Given the description of an element on the screen output the (x, y) to click on. 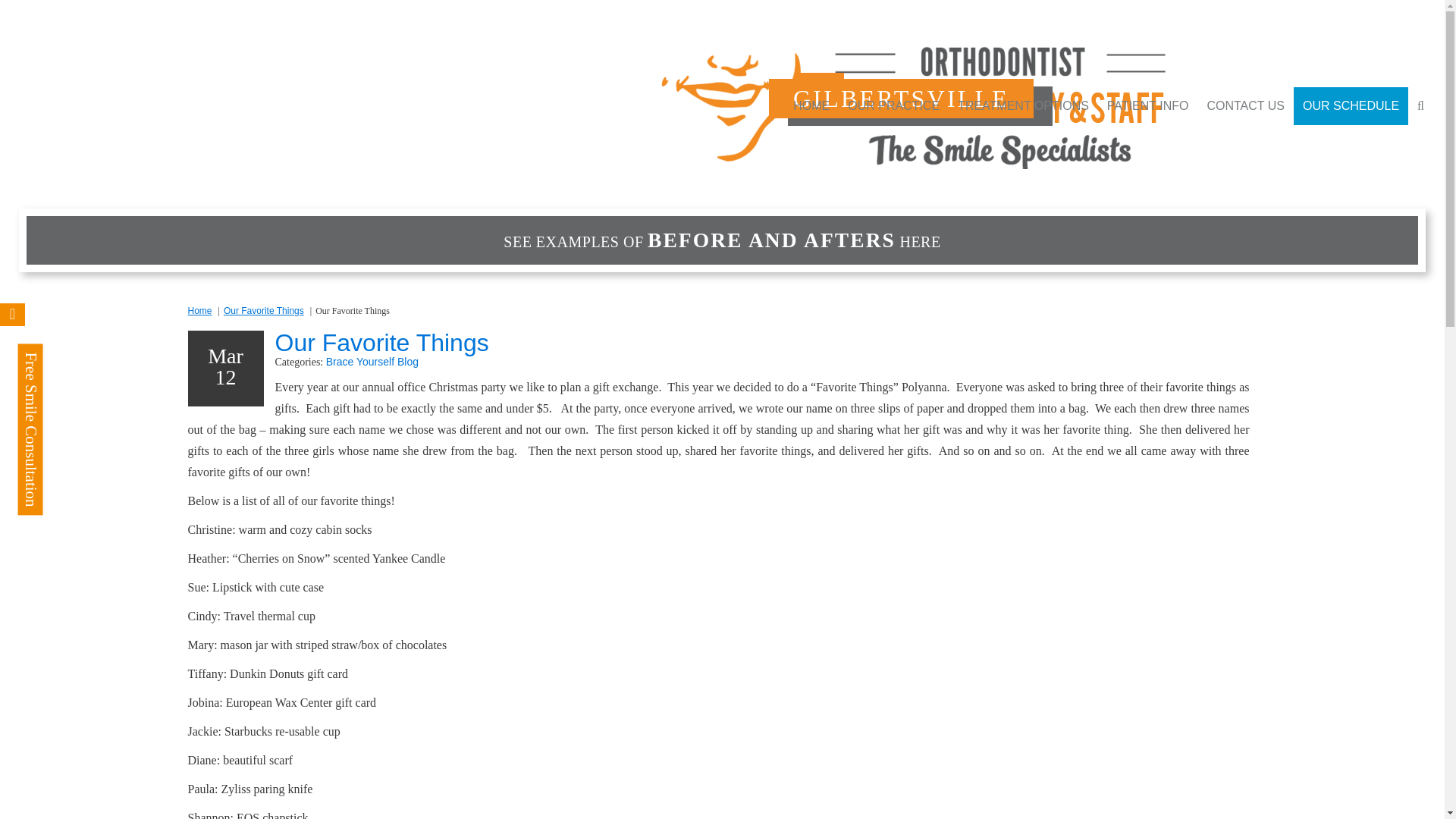
CONTACT US (1245, 105)
OUR PRACTICE (893, 105)
TREATMENT OPTIONS (1023, 105)
HOME (811, 105)
PATIENT INFO (1147, 105)
OUR SCHEDULE (1350, 105)
Search (1413, 137)
SEE EXAMPLES OF BEFORE AND AFTERS HERE (721, 239)
McSurdy Orthodontics (920, 105)
610-489-6032 (971, 106)
